Given the description of an element on the screen output the (x, y) to click on. 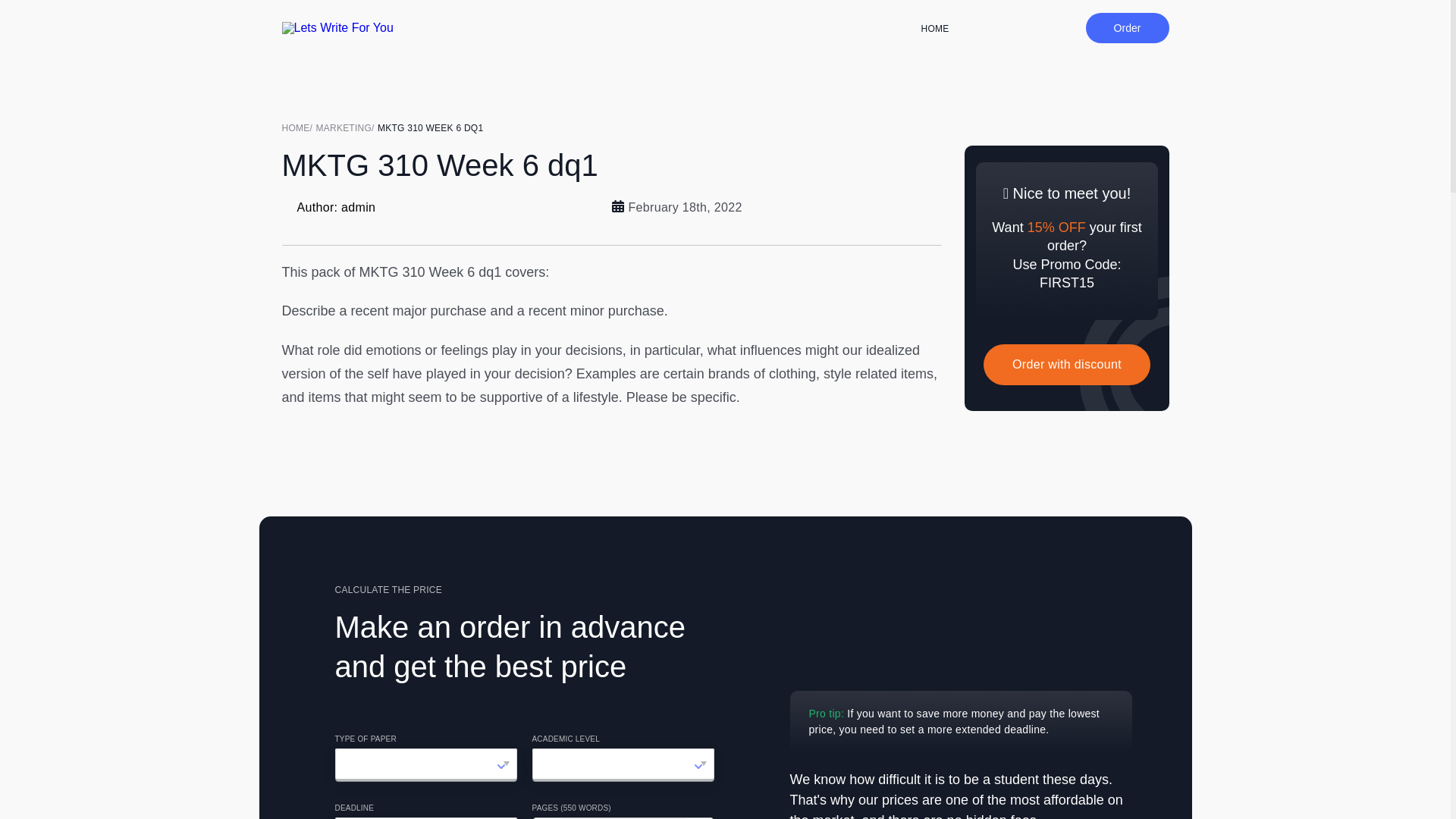
Go to Lets Write For You  (298, 126)
HOME (298, 126)
Order with discount (1066, 363)
HOME (935, 28)
Order (1127, 28)
